Given the description of an element on the screen output the (x, y) to click on. 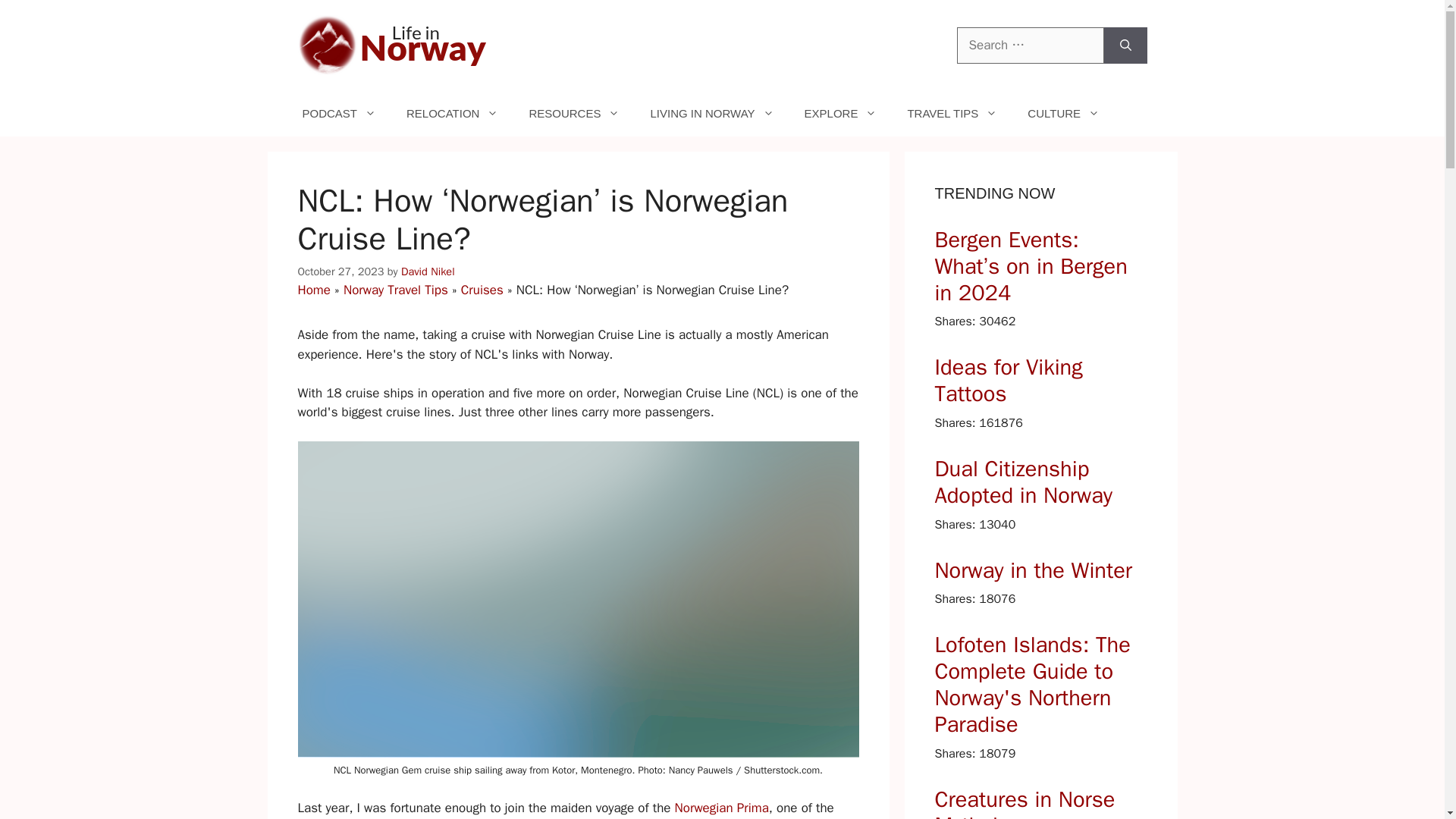
RELOCATION (452, 113)
PODCAST (338, 113)
View all posts by David Nikel (427, 271)
Search for: (1029, 45)
Ideas for Viking Tattoos (1040, 380)
EXPLORE (840, 113)
LIVING IN NORWAY (711, 113)
Dual Citizenship Adopted in Norway (1040, 482)
RESOURCES (573, 113)
